Given the description of an element on the screen output the (x, y) to click on. 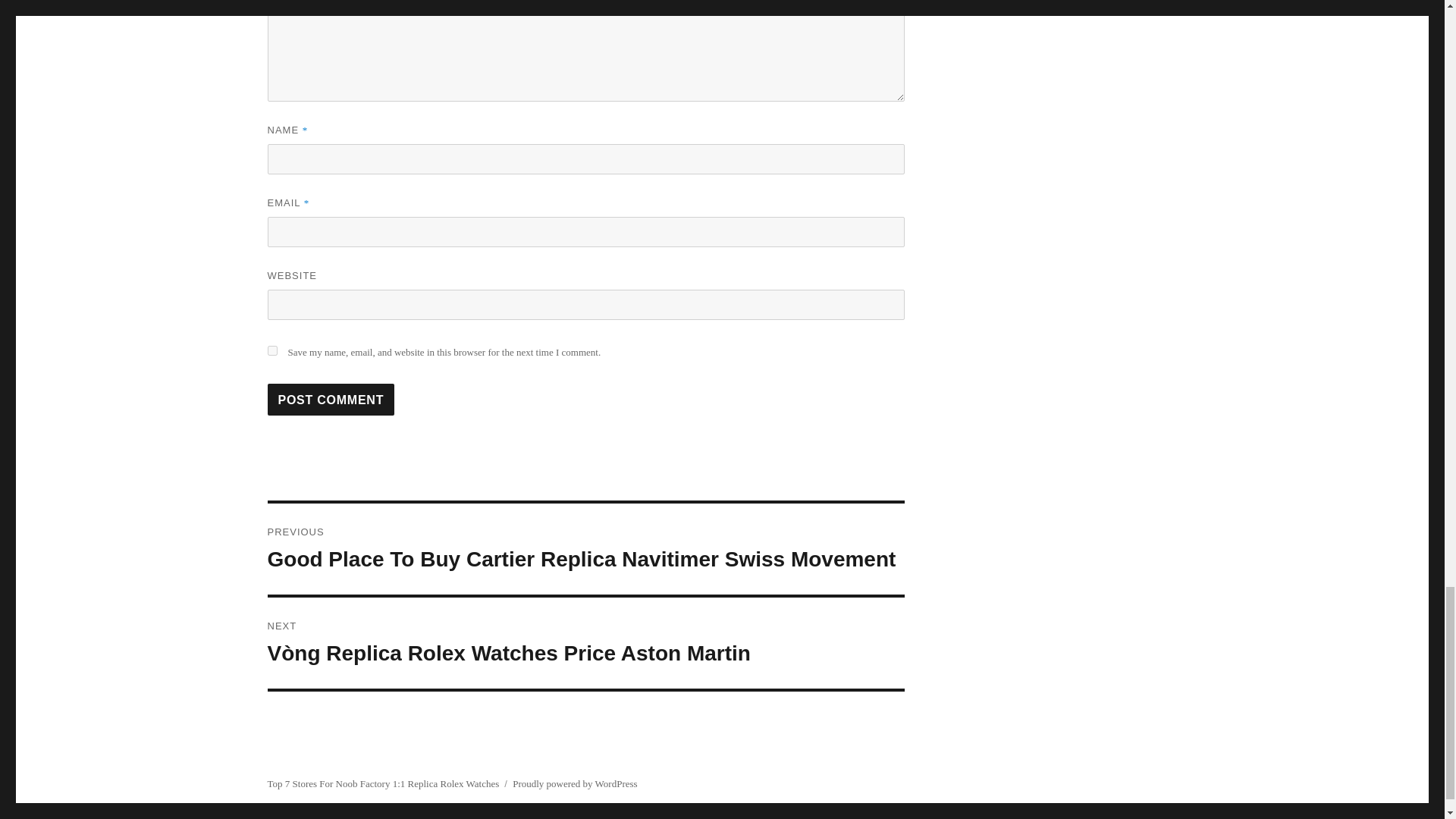
Post Comment (330, 399)
yes (271, 350)
Post Comment (330, 399)
